Given the description of an element on the screen output the (x, y) to click on. 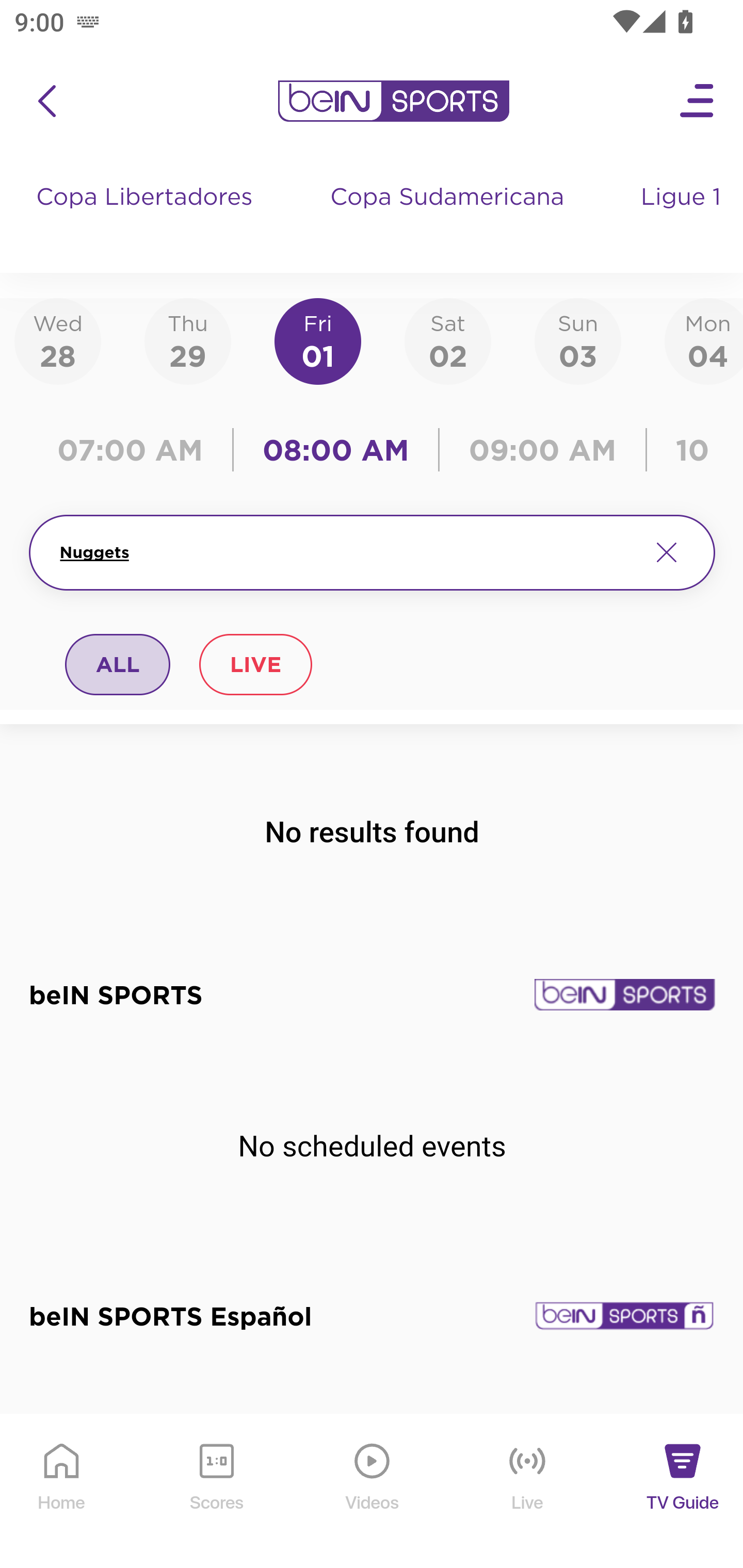
en-us?platform=mobile_android bein logo (392, 101)
icon back (46, 101)
Open Menu Icon (697, 101)
Copa Libertadores (146, 216)
Copa Sudamericana (448, 216)
Ligue 1 (682, 216)
Wed28 (58, 340)
Thu29 (187, 340)
Fri01 (318, 340)
Sat02 (447, 340)
Sun03 (578, 340)
Mon04 (703, 340)
07:00 AM (135, 449)
08:00 AM (336, 449)
09:00 AM (542, 449)
Nuggets (346, 552)
ALL (118, 663)
LIVE (255, 663)
Home Home Icon Home (61, 1491)
Scores Scores Icon Scores (216, 1491)
Videos Videos Icon Videos (372, 1491)
TV Guide TV Guide Icon TV Guide (682, 1491)
